Given the description of an element on the screen output the (x, y) to click on. 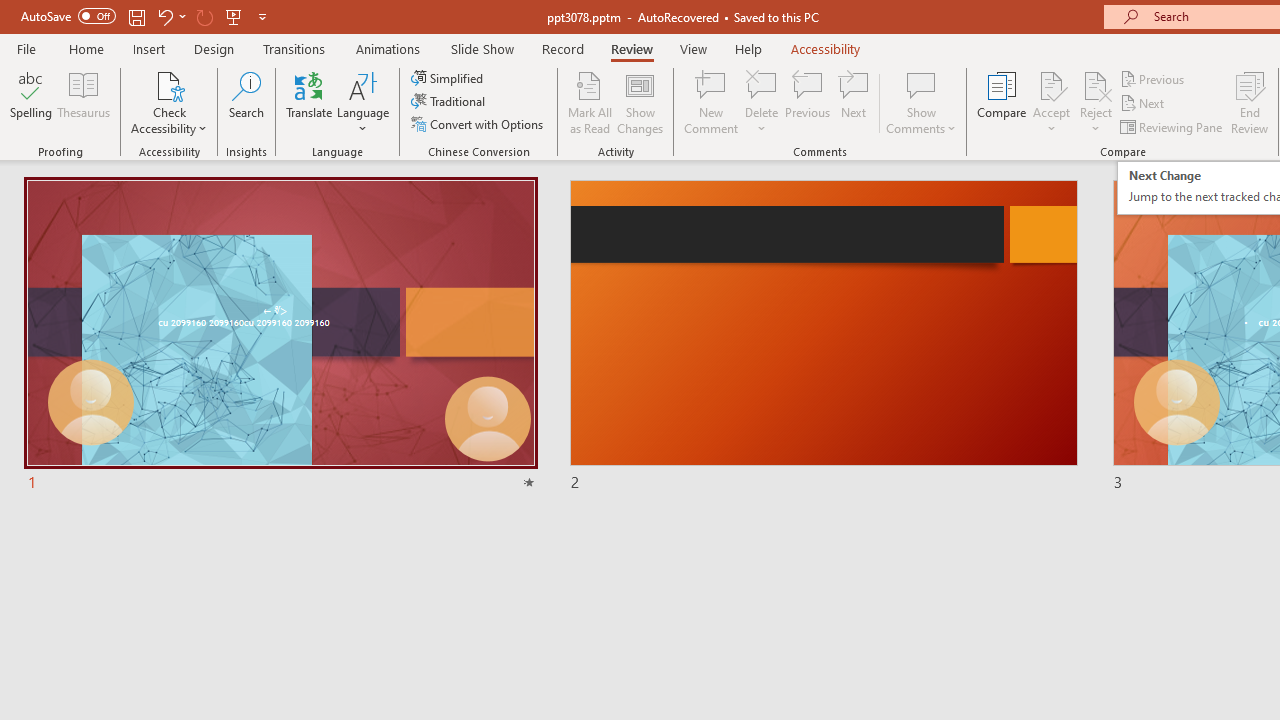
New Comment (711, 102)
Translate (309, 102)
Traditional (449, 101)
Previous (1153, 78)
Accept Change (1051, 84)
